Given the description of an element on the screen output the (x, y) to click on. 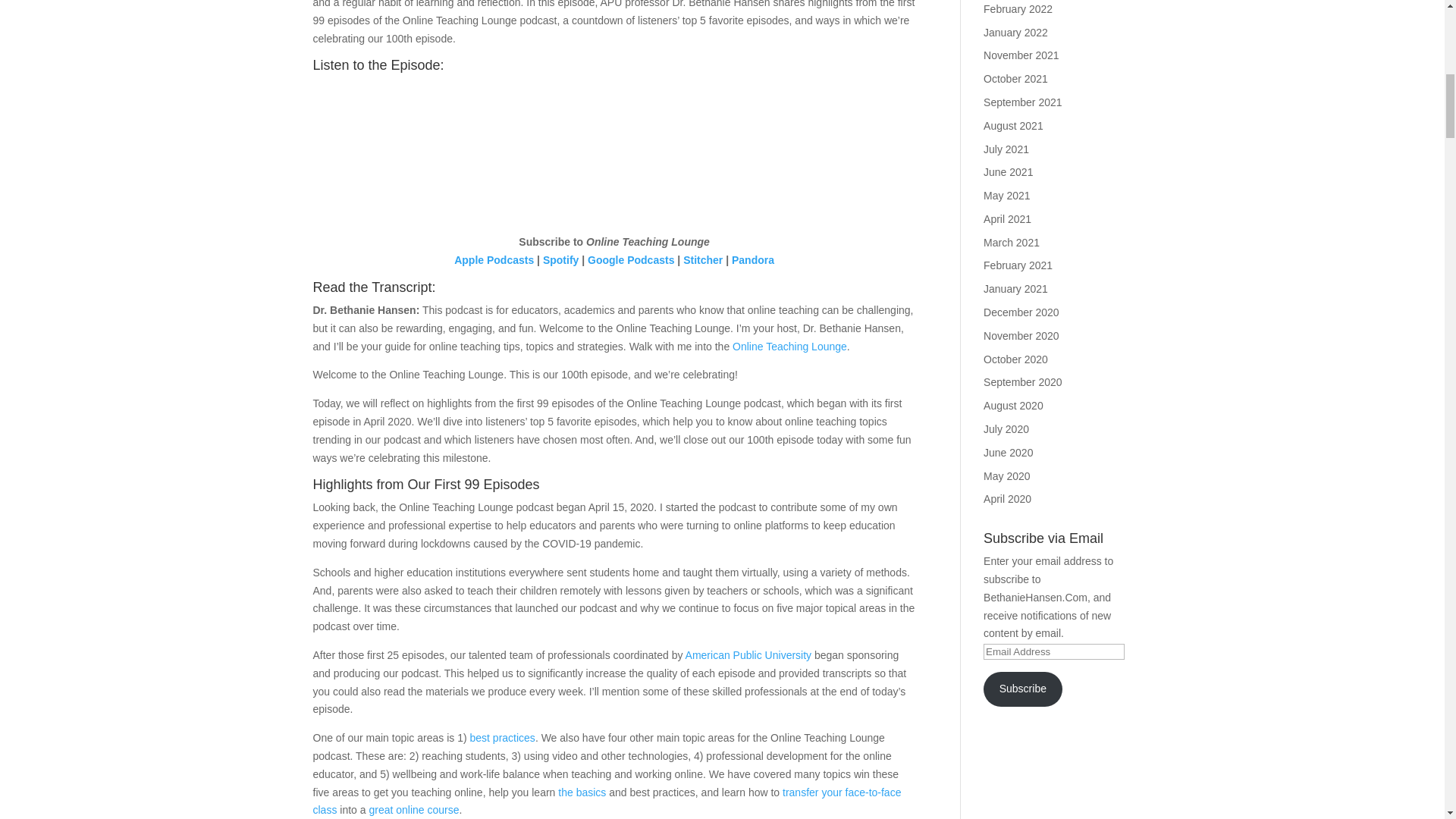
the basics (581, 792)
great online course (413, 809)
transfer your face-to-face class (607, 801)
American Public University (748, 654)
Online Teaching Lounge (789, 346)
Pandora (753, 259)
Apple Podcasts (494, 259)
Google Podcasts (631, 259)
Spotify (560, 259)
best practices (502, 737)
Stitcher (702, 259)
